Given the description of an element on the screen output the (x, y) to click on. 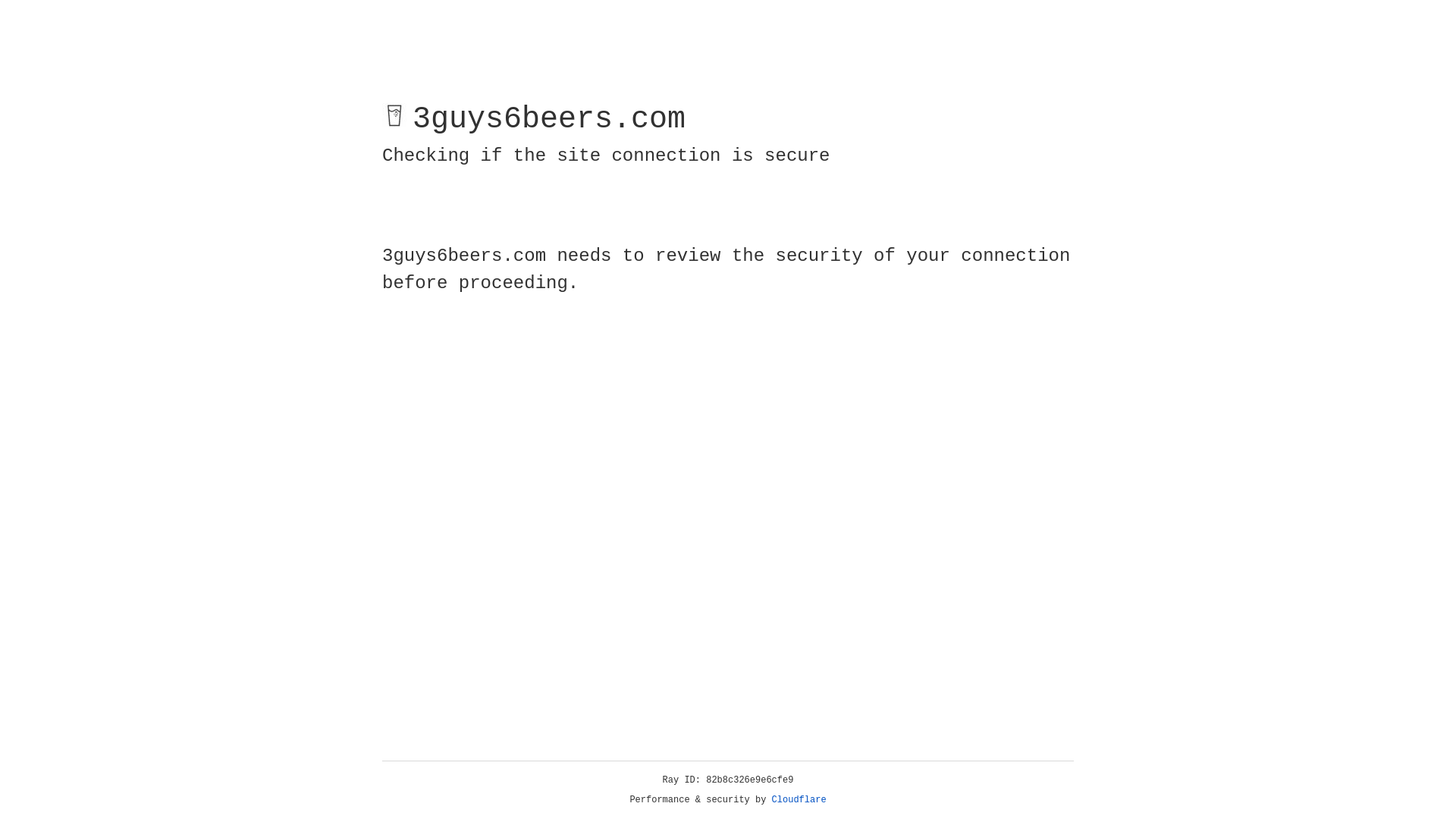
Cloudflare Element type: text (798, 799)
